Given the description of an element on the screen output the (x, y) to click on. 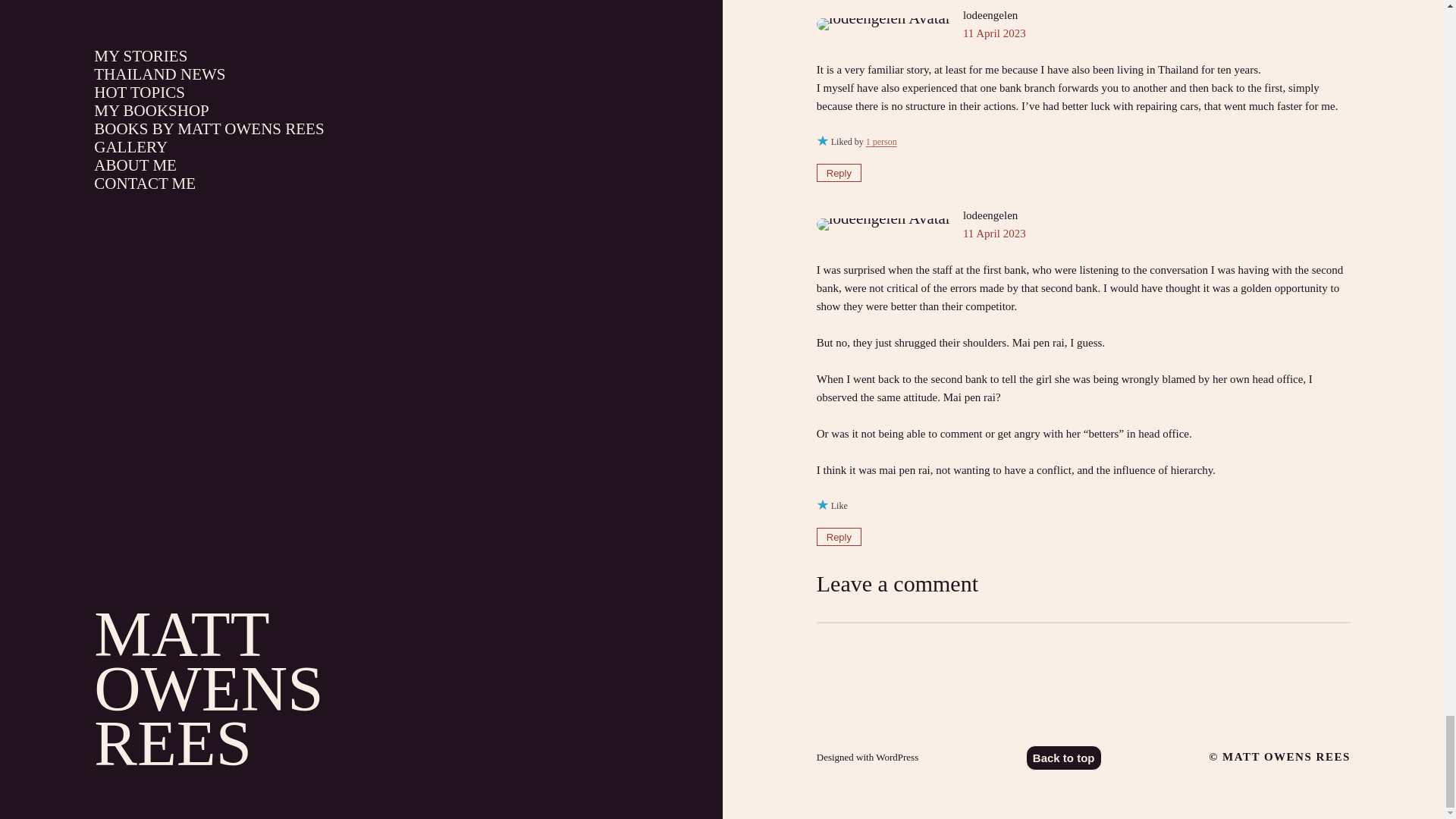
WordPress (897, 756)
1 person (881, 141)
Reply (838, 172)
11 April 2023 (994, 33)
Reply (838, 536)
11 April 2023 (994, 233)
Back to top (1064, 757)
